Given the description of an element on the screen output the (x, y) to click on. 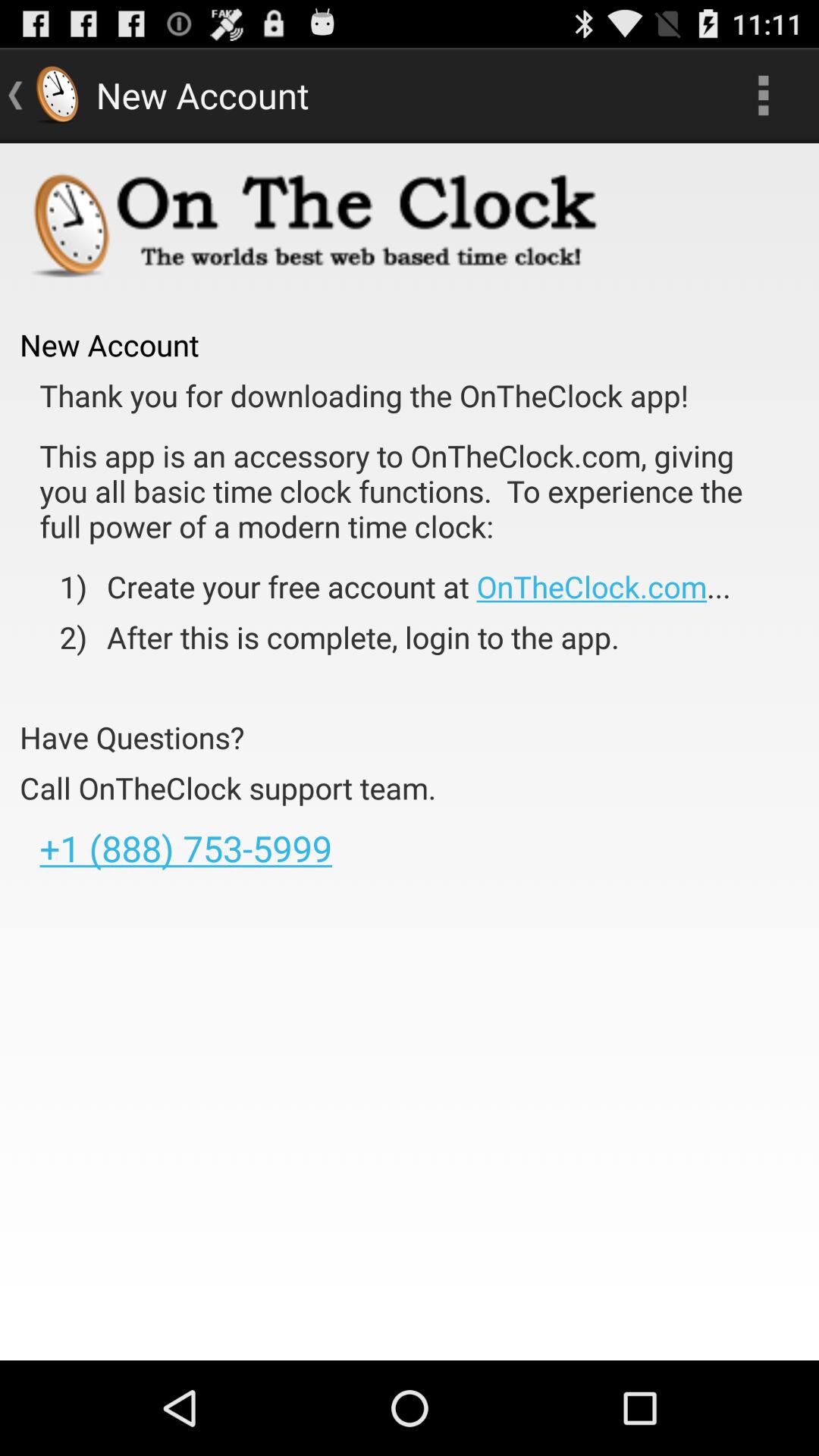
flip until 1 888 753 (185, 848)
